Given the description of an element on the screen output the (x, y) to click on. 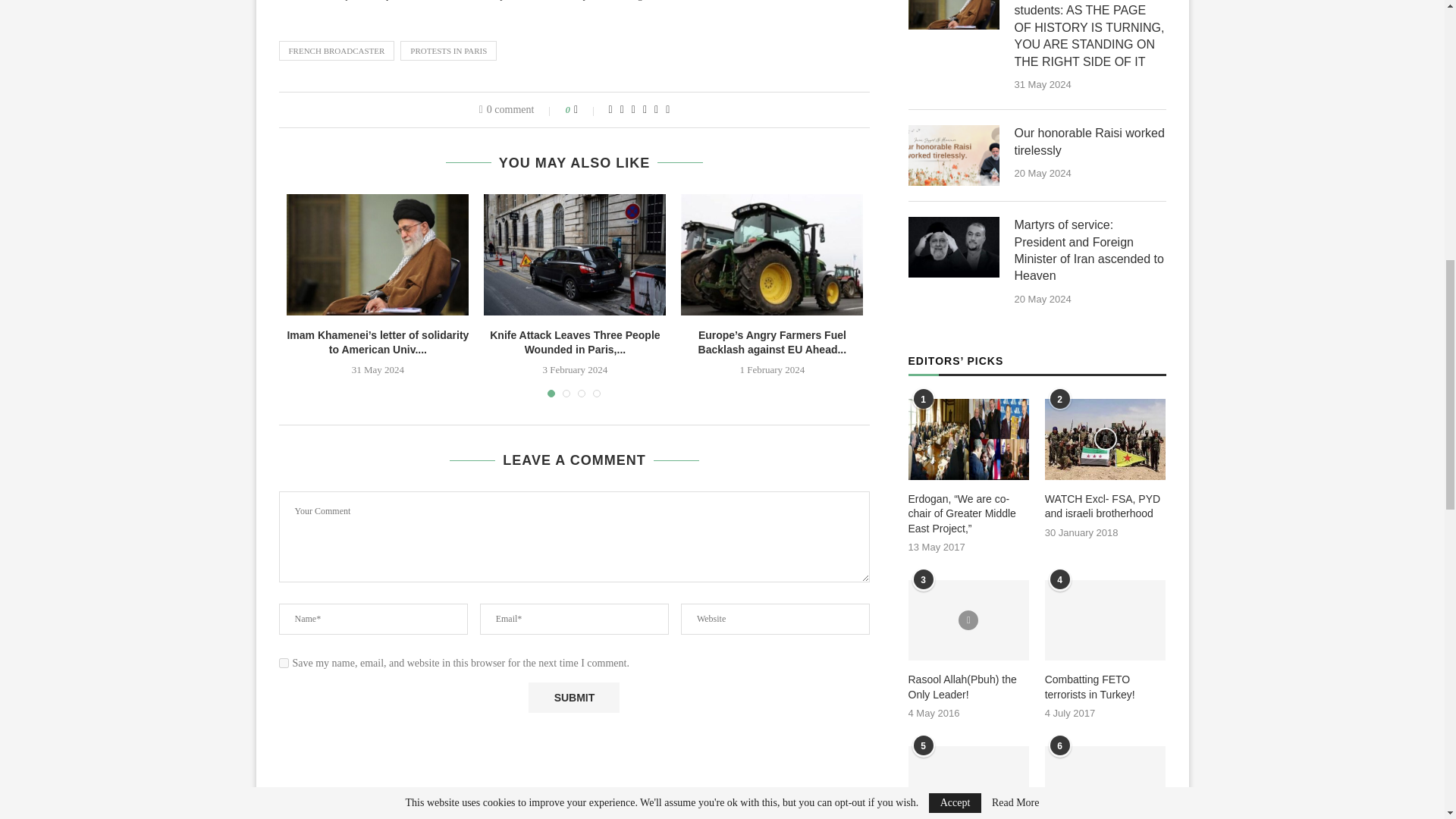
Submit (574, 697)
yes (283, 663)
Like (585, 110)
